Given the description of an element on the screen output the (x, y) to click on. 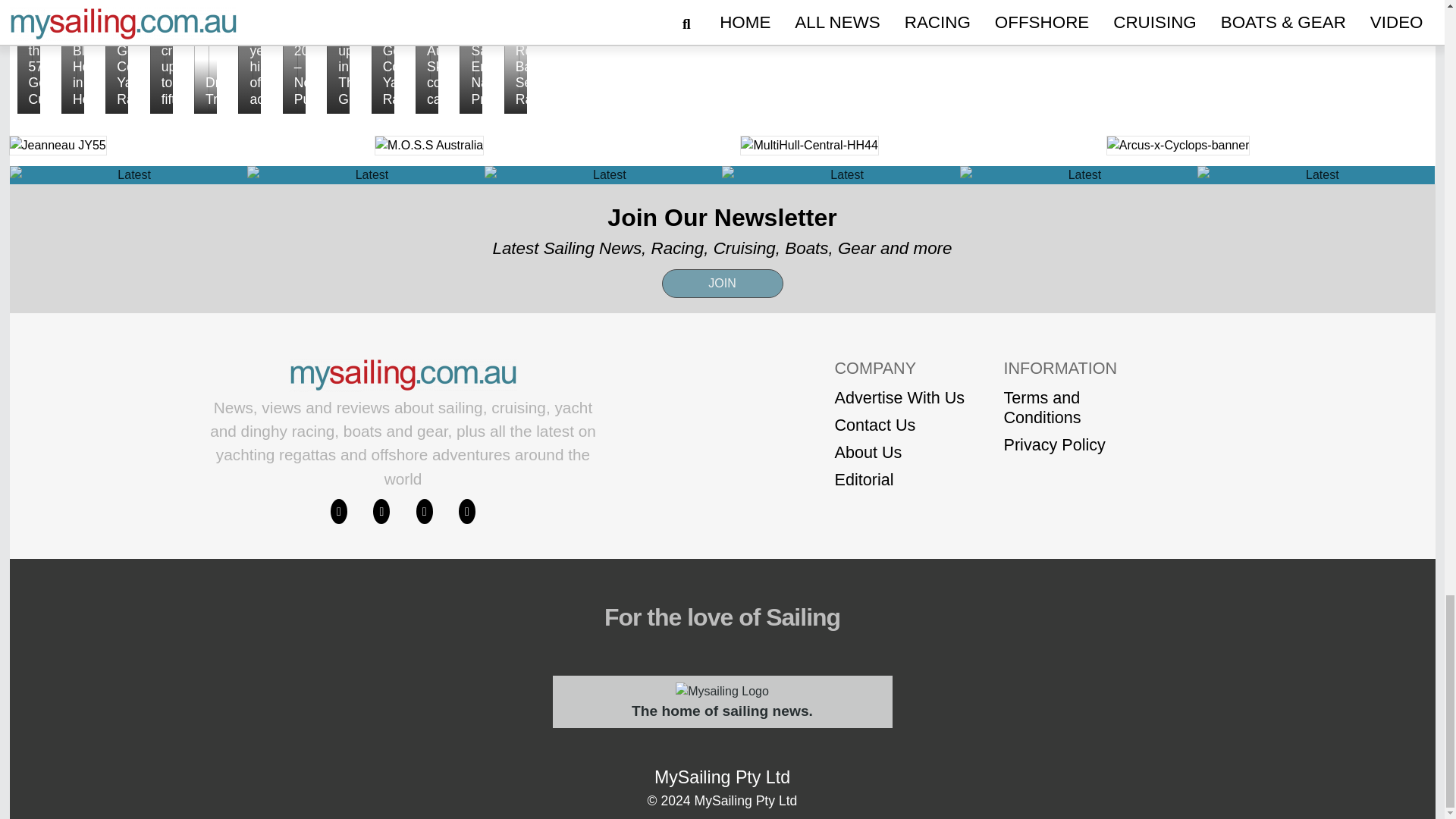
Editorial (899, 479)
About Us (899, 452)
Contact Us (899, 424)
Advertise With Us (899, 397)
